Given the description of an element on the screen output the (x, y) to click on. 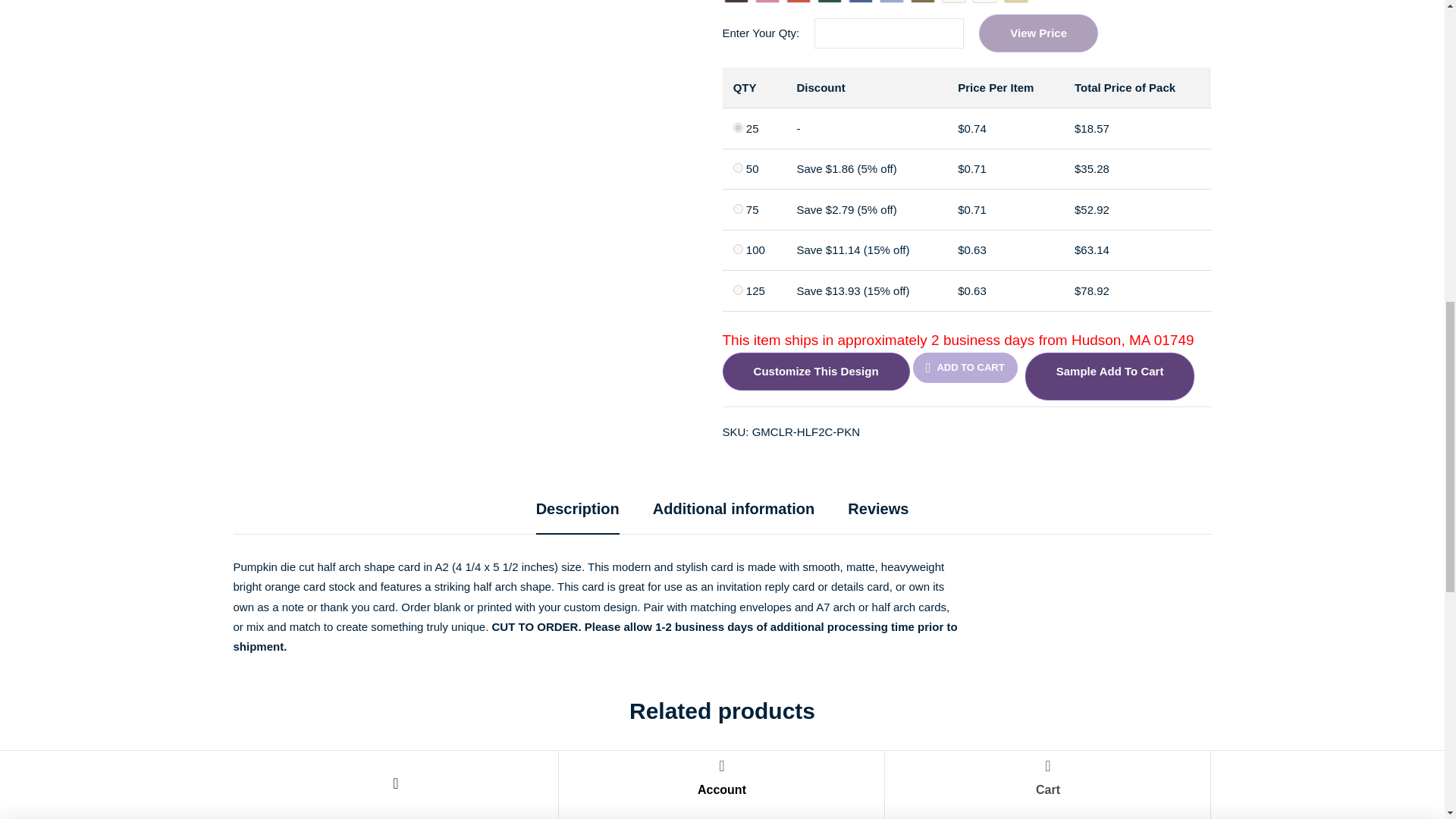
50 (737, 167)
25 (737, 127)
75 (737, 207)
125 (737, 289)
100 (737, 248)
